Given the description of an element on the screen output the (x, y) to click on. 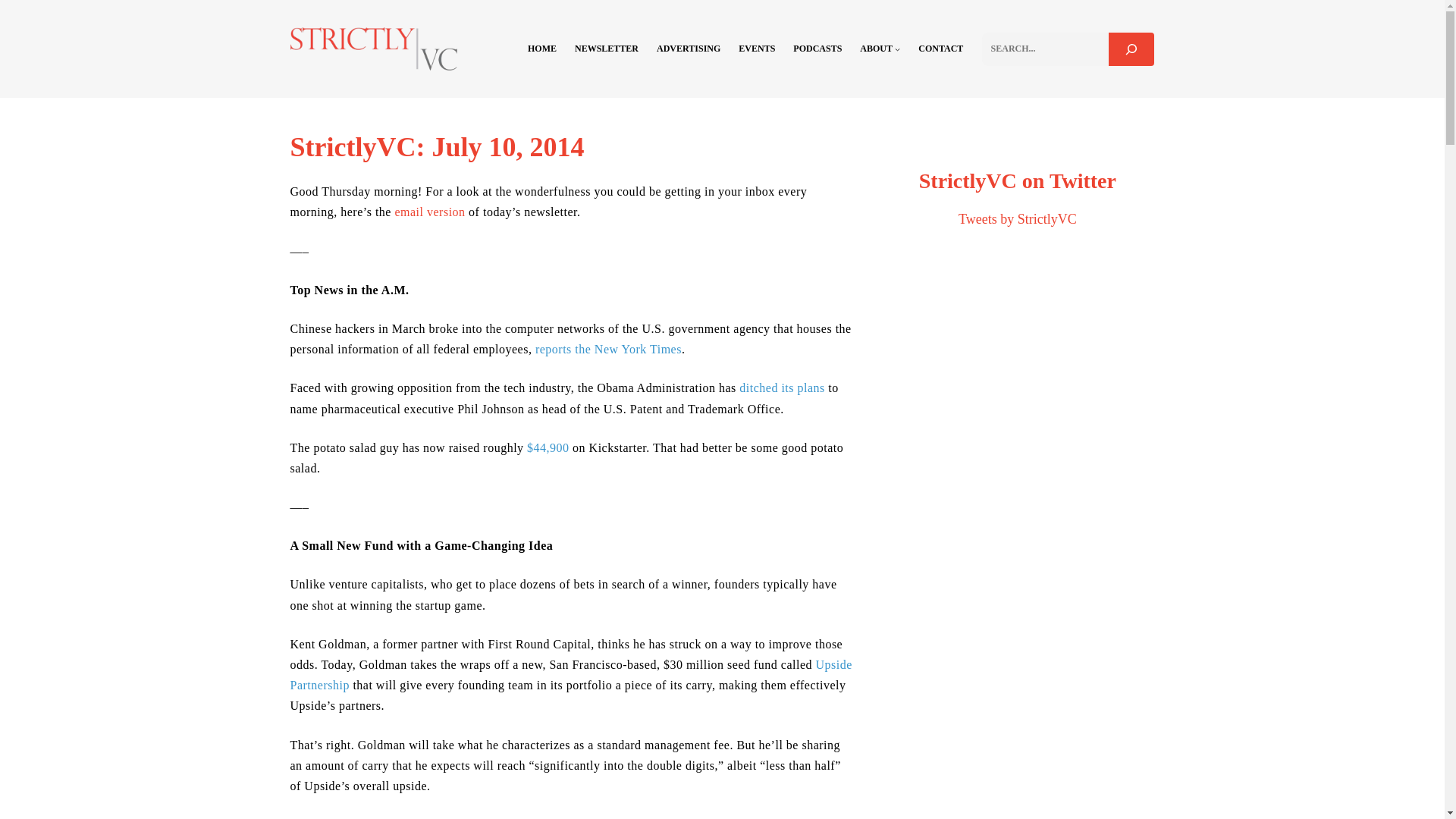
CONTACT (940, 48)
ADVERTISING (688, 48)
HOME (541, 48)
reports the New York Times (608, 349)
EVENTS (756, 48)
Upside Partnership (570, 674)
email version (429, 211)
ditched its plans (781, 387)
PODCASTS (817, 48)
ABOUT (876, 48)
